Given the description of an element on the screen output the (x, y) to click on. 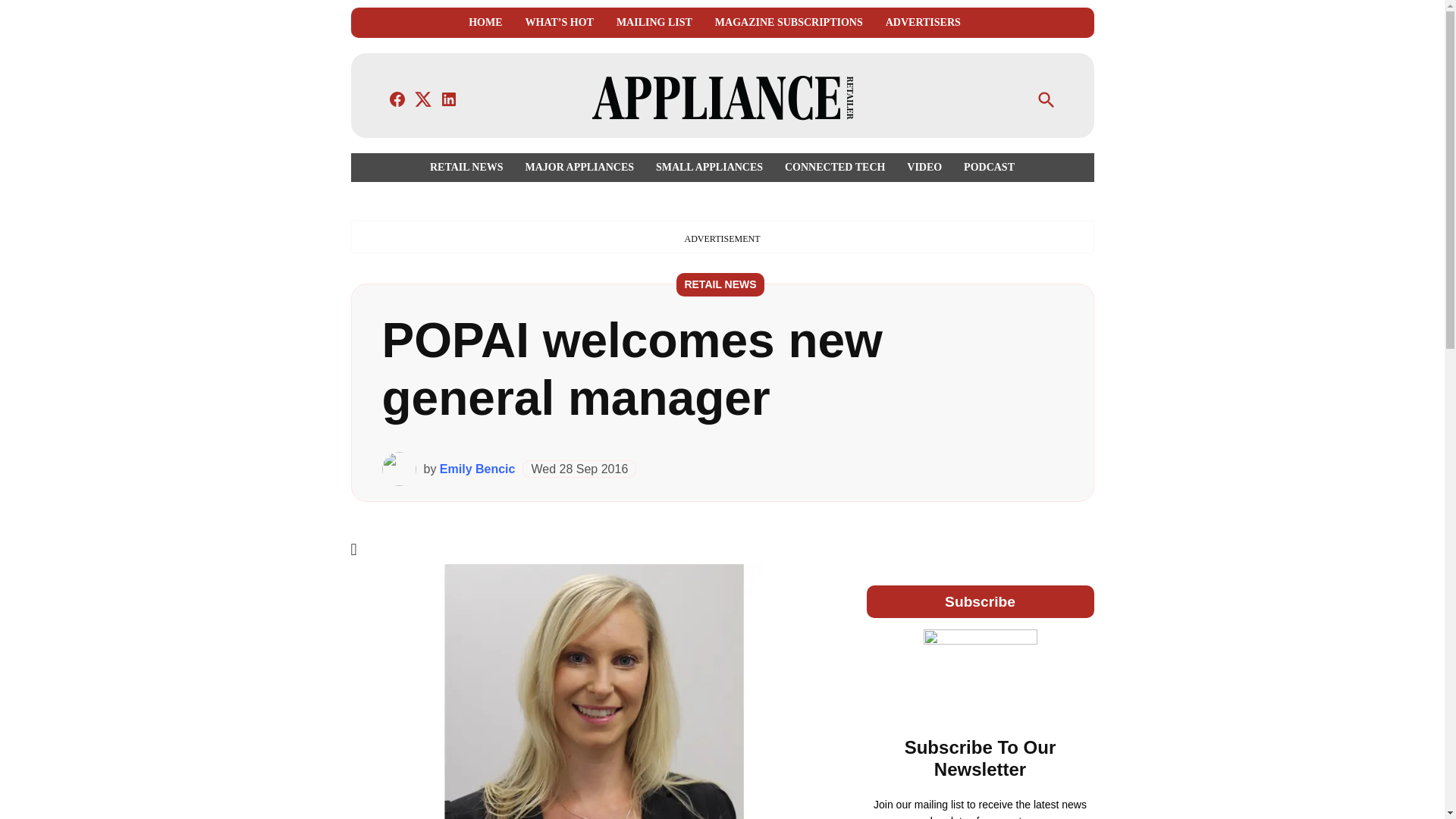
RETAIL NEWS (470, 167)
CONNECTED TECH (834, 167)
VIDEO (924, 167)
ADVERTISERS (922, 22)
MAJOR APPLIANCES (579, 167)
MAILING LIST (653, 22)
Appliance Retailer (983, 109)
Emily Bencic (477, 468)
TWITTER (422, 99)
PODCAST (985, 167)
MAGAZINE SUBSCRIPTIONS (788, 22)
Open Search (1046, 99)
HOME (484, 22)
RETAIL NEWS (720, 284)
SMALL APPLIANCES (708, 167)
